Given the description of an element on the screen output the (x, y) to click on. 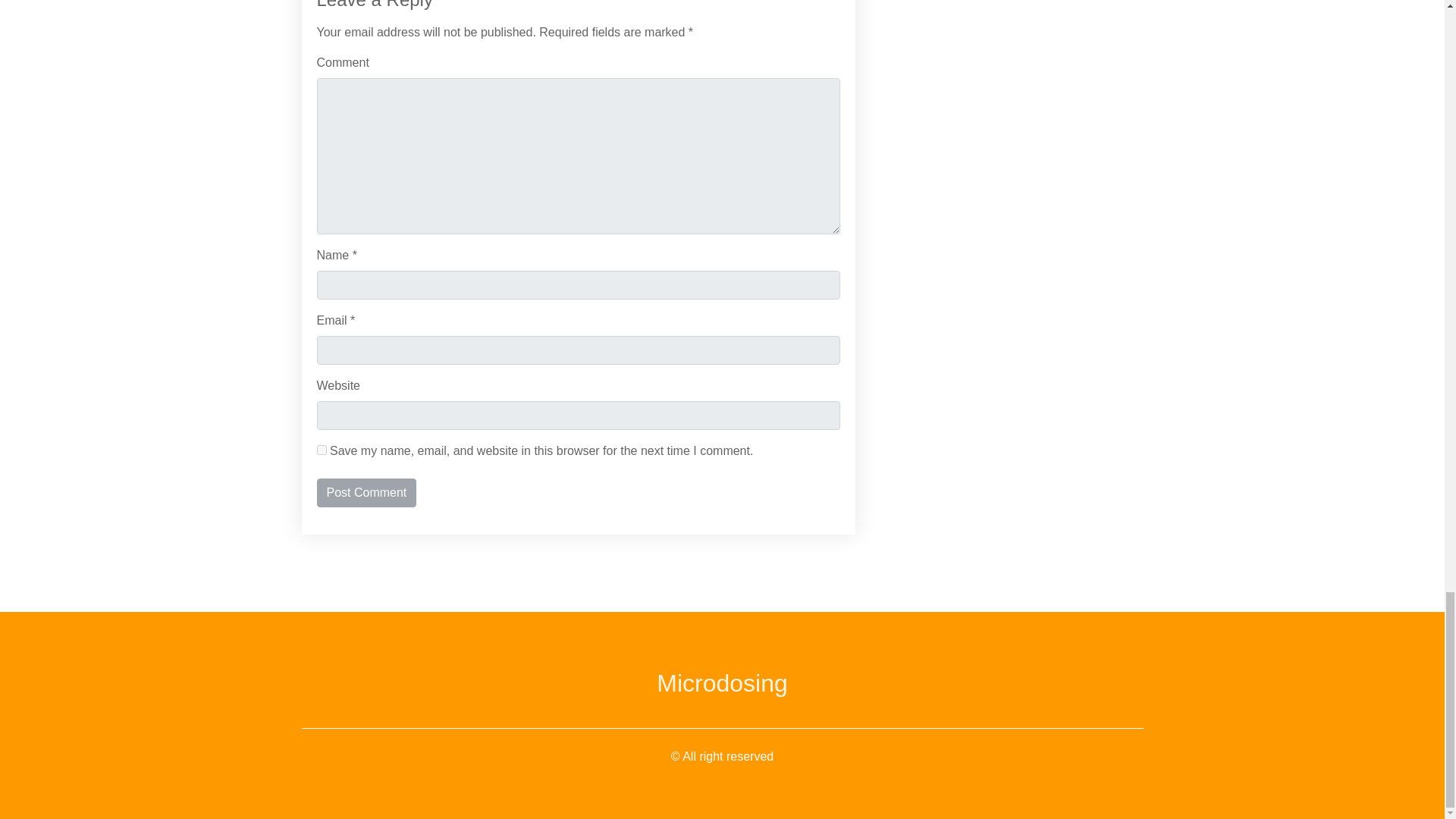
Microdosing (721, 682)
yes (321, 450)
Post Comment (366, 492)
Post Comment (366, 492)
